Given the description of an element on the screen output the (x, y) to click on. 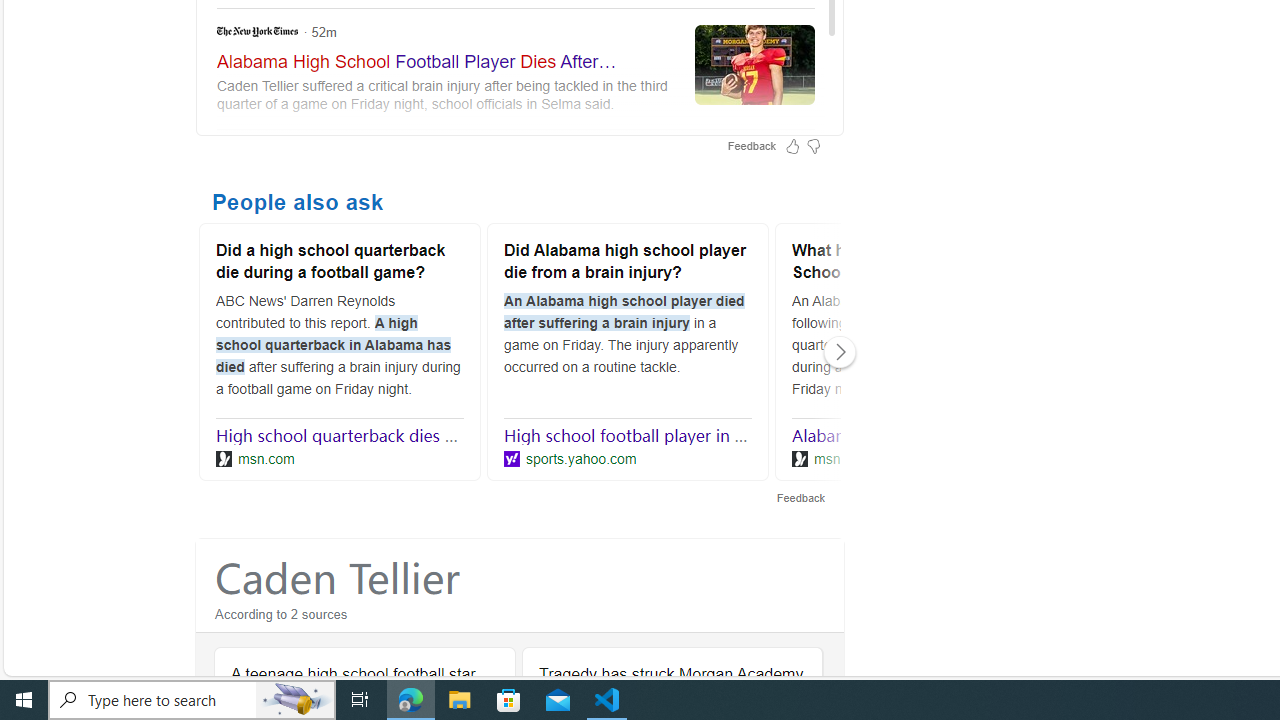
The New York Times (257, 31)
wqad (516, 188)
Feedback Dislike (813, 146)
According to 2 sources (520, 617)
